Given the description of an element on the screen output the (x, y) to click on. 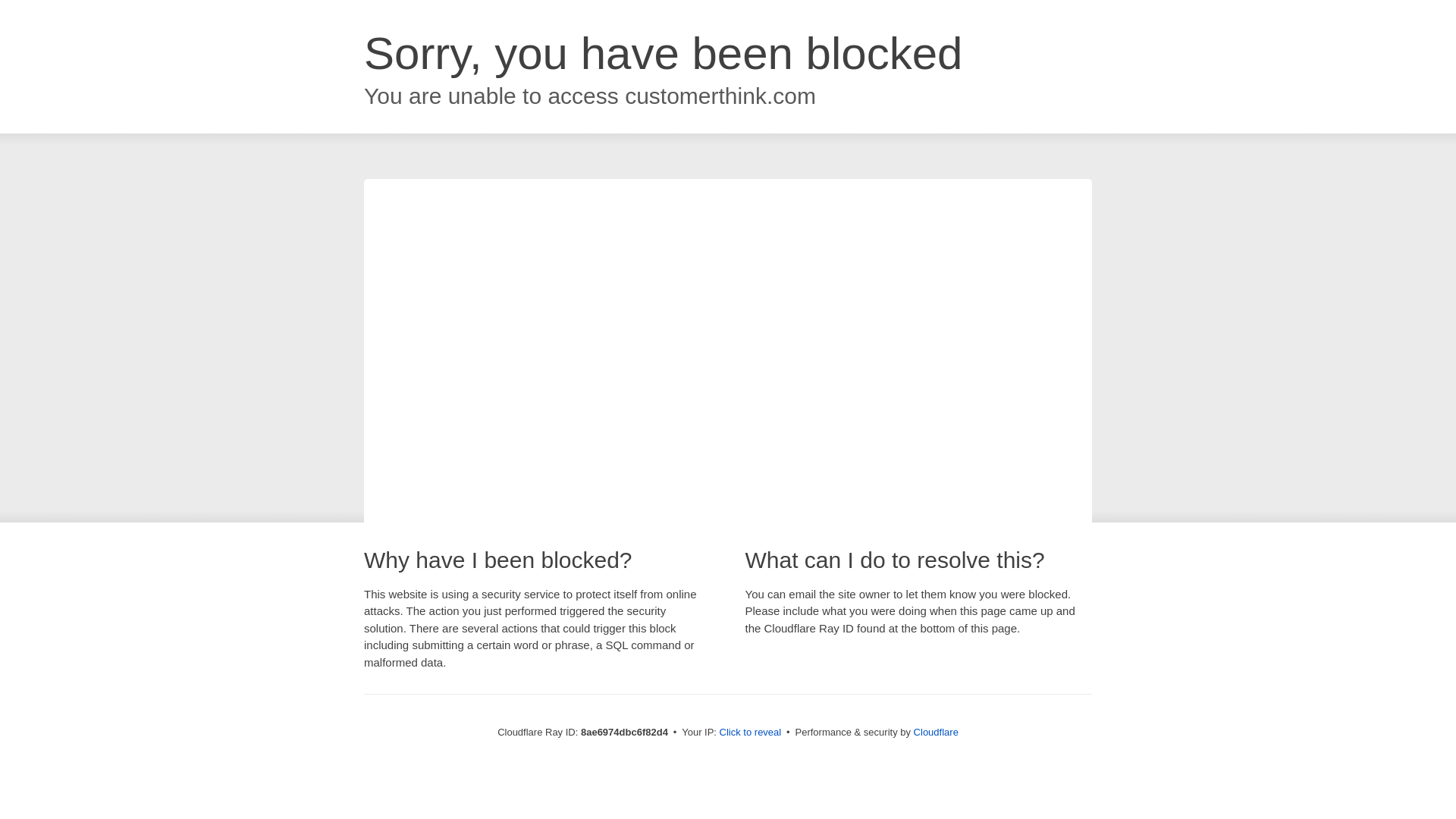
Cloudflare (936, 731)
Click to reveal (750, 732)
